Given the description of an element on the screen output the (x, y) to click on. 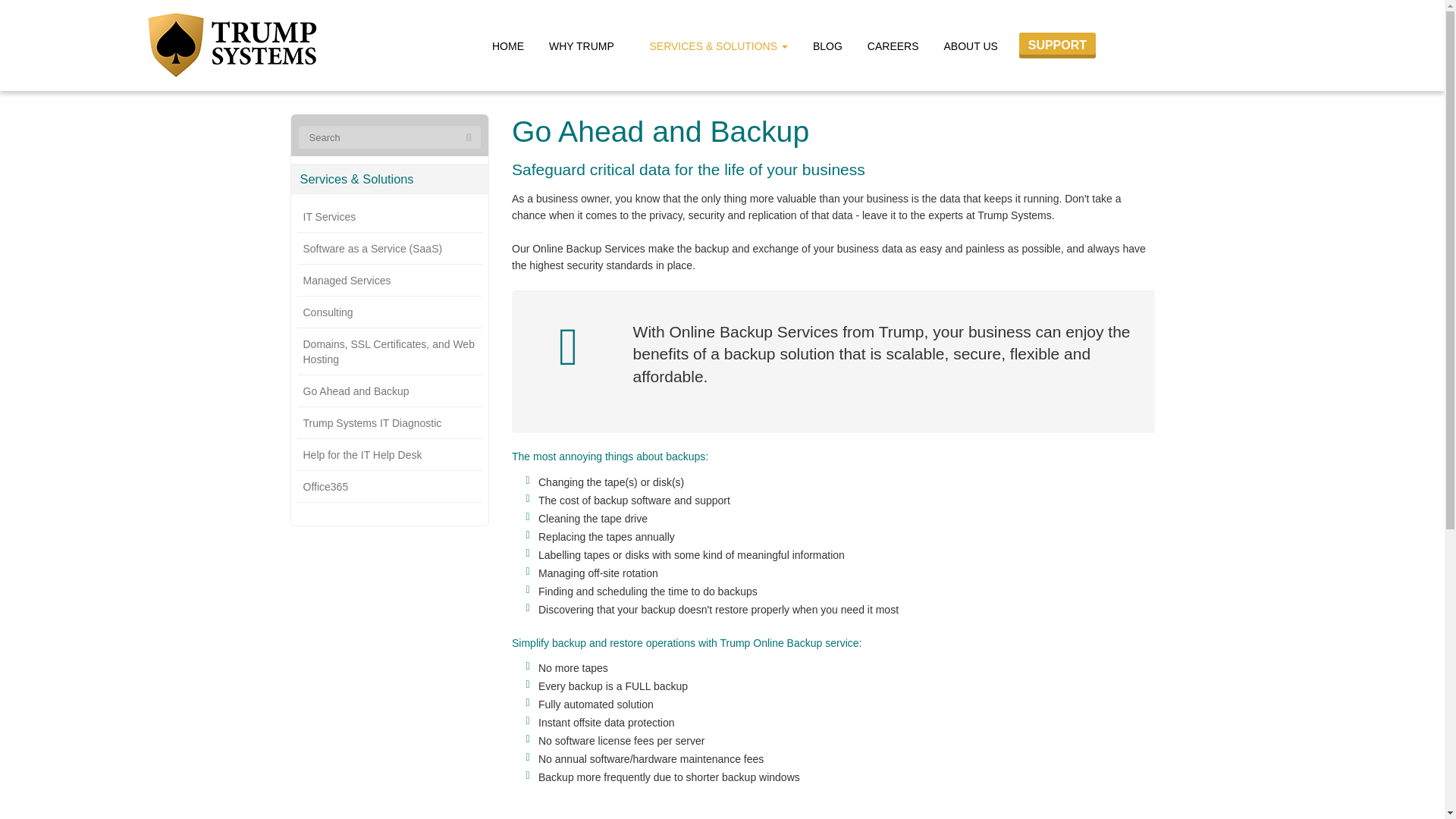
Trump Systems IT Diagnostic (390, 422)
ABOUT US (975, 45)
HOME (508, 45)
Domains, SSL Certificates, and Web Hosting (390, 352)
Help for the IT Help Desk (390, 454)
Office365 (390, 486)
SUPPORT (1057, 45)
Managed Services (390, 280)
BLOG (827, 45)
IT Services (390, 216)
WHY TRUMP (586, 45)
CAREERS (892, 45)
Go Ahead and Backup (390, 391)
Consulting (390, 312)
Search (468, 137)
